Given the description of an element on the screen output the (x, y) to click on. 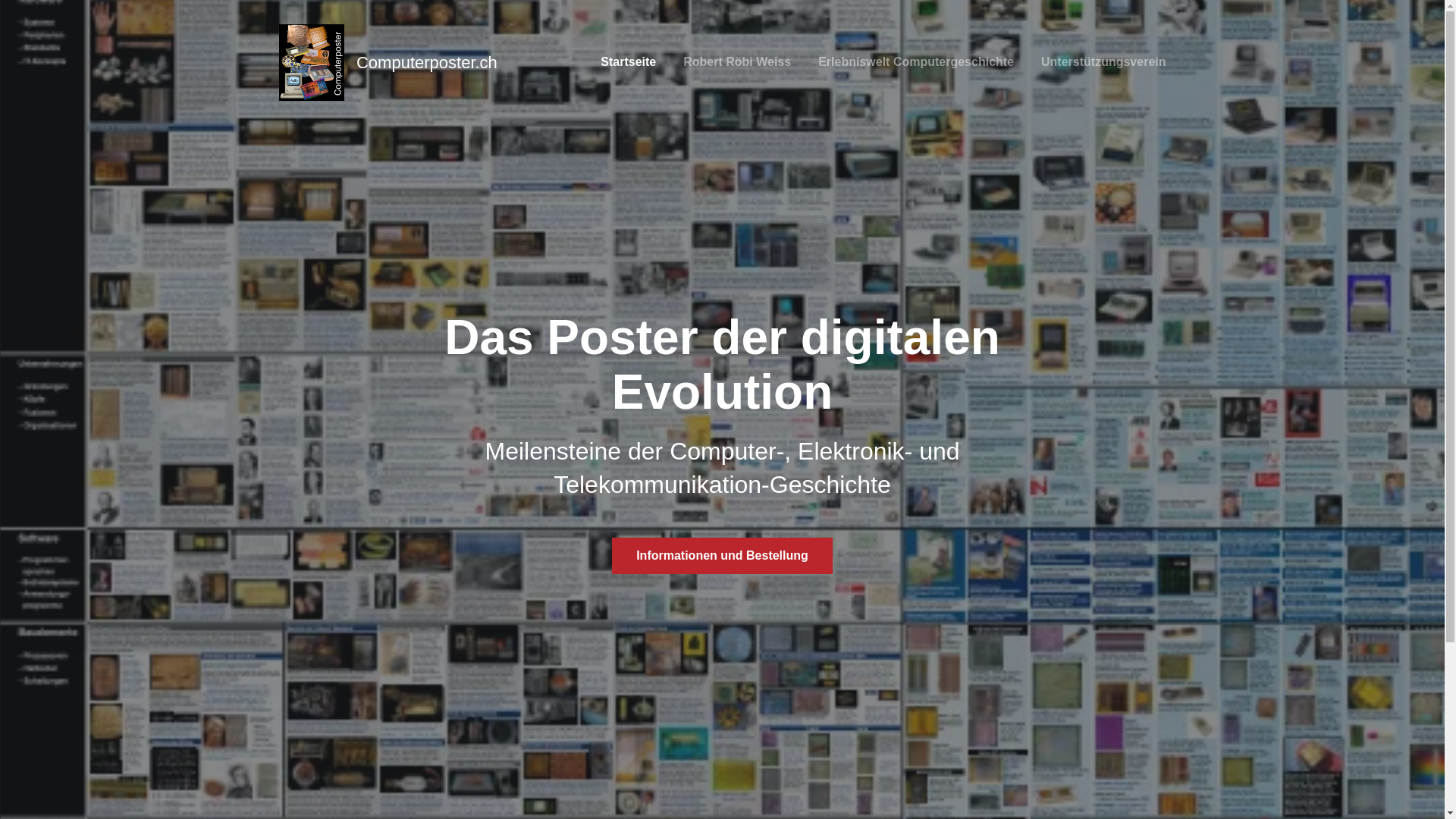
Informationen und Bestellung Element type: text (721, 554)
Startseite Element type: text (627, 61)
Erlebniswelt Computergeschichte Element type: text (915, 61)
